Given the description of an element on the screen output the (x, y) to click on. 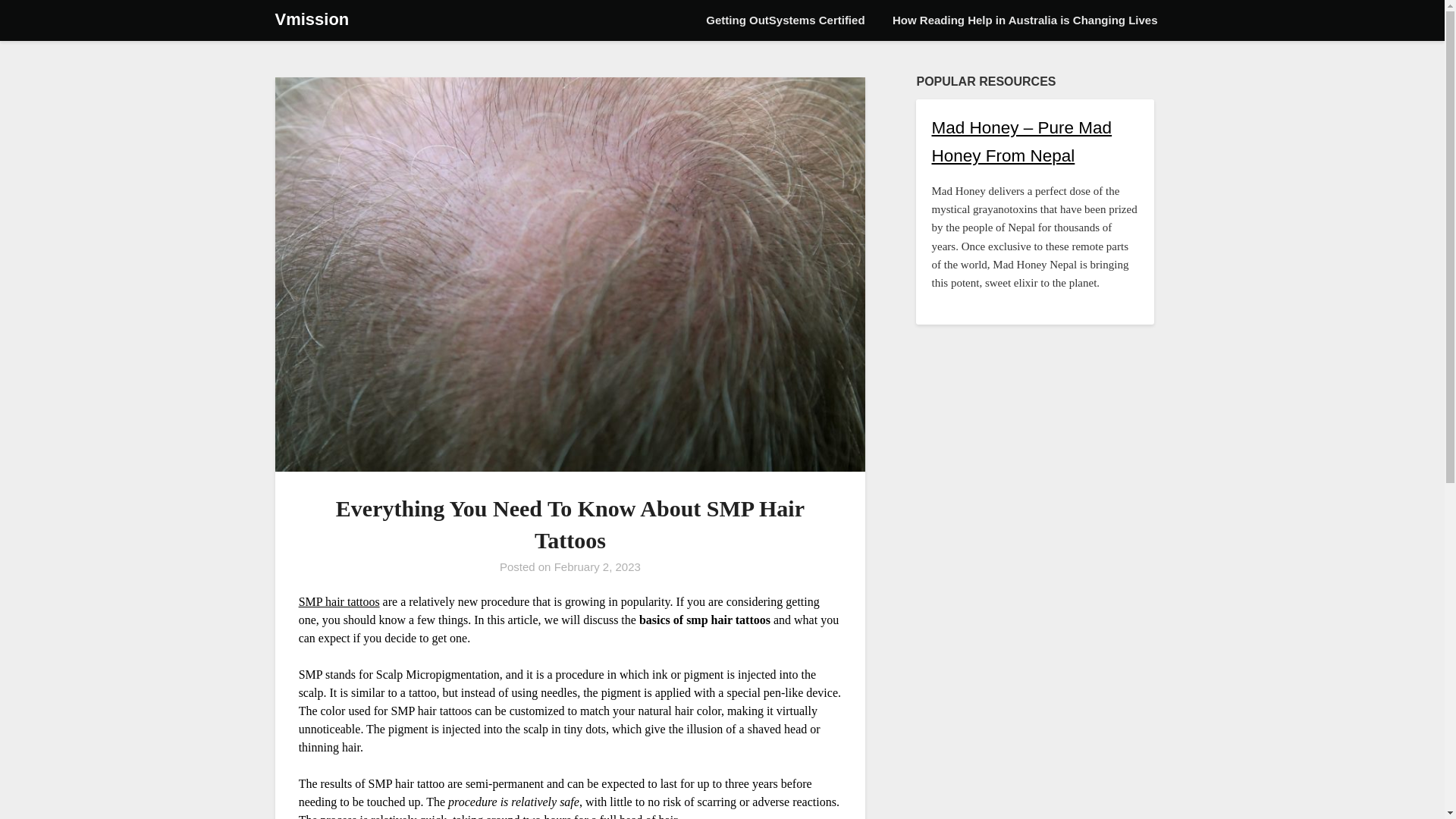
Vmission (312, 19)
February 2, 2023 (597, 566)
SMP hair tattoos (339, 600)
Getting OutSystems Certified (785, 20)
How Reading Help in Australia is Changing Lives (1025, 20)
